Given the description of an element on the screen output the (x, y) to click on. 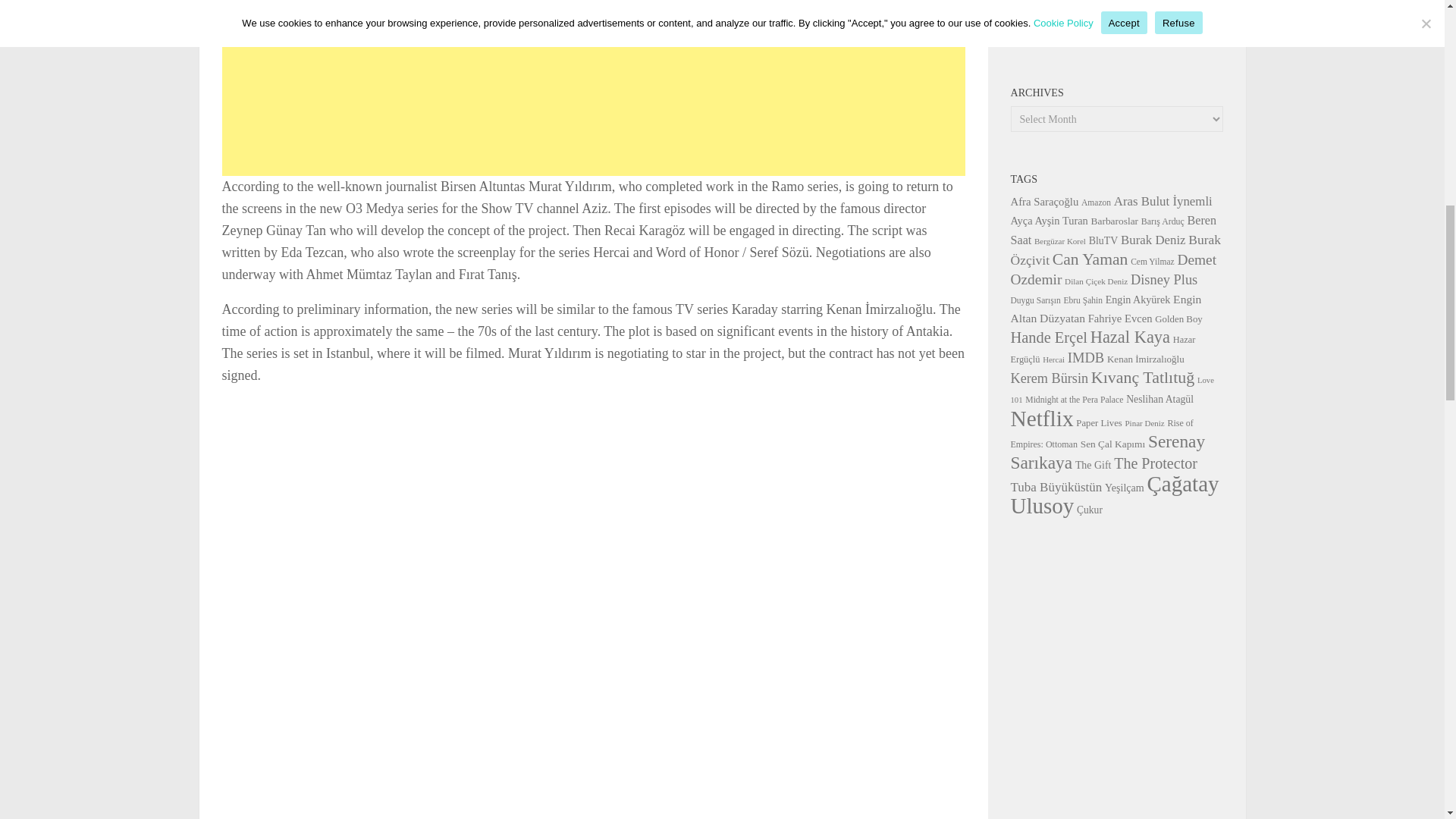
Advertisement (592, 100)
